Given the description of an element on the screen output the (x, y) to click on. 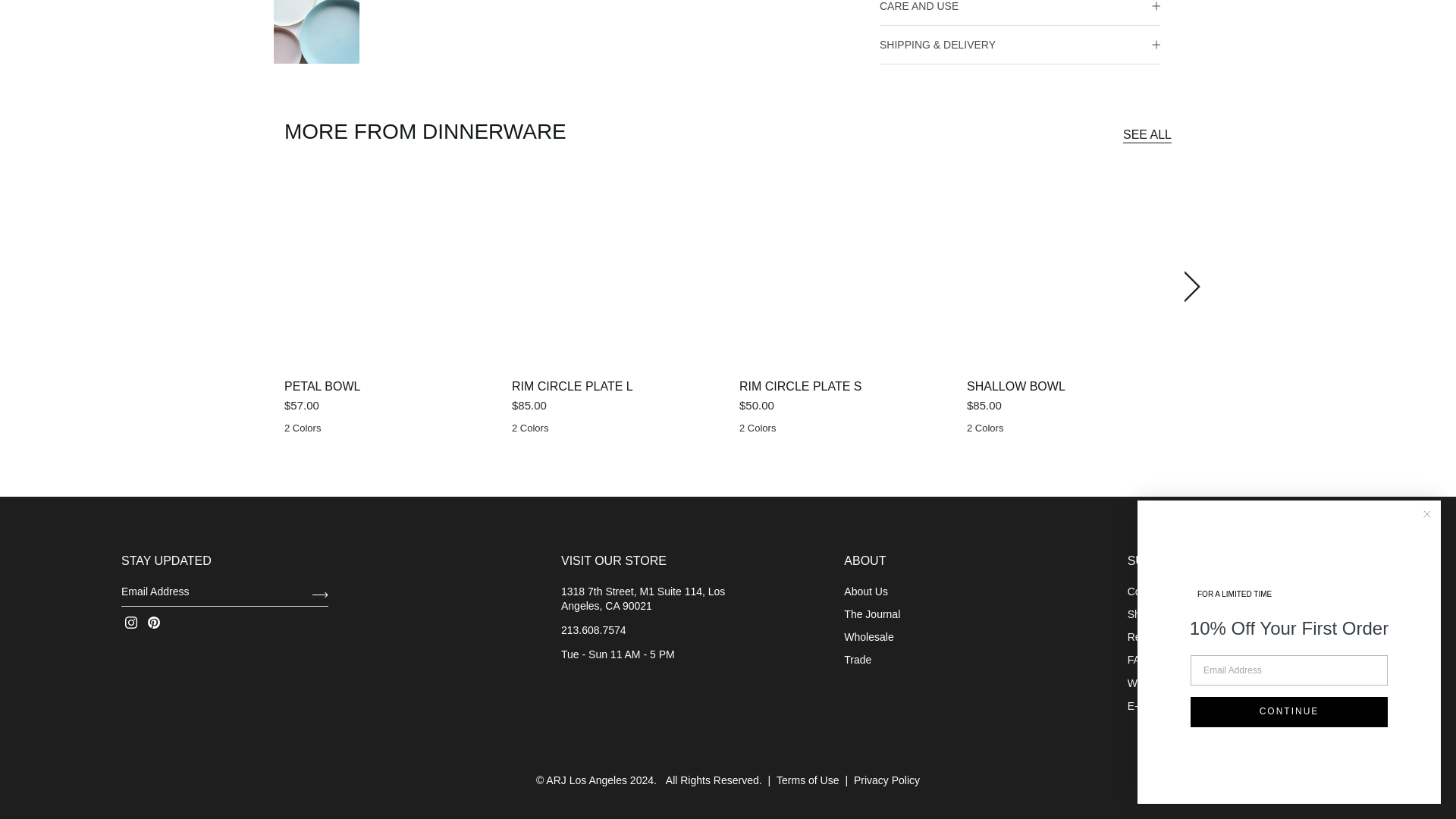
tel:213.608.7574 (593, 630)
